Given the description of an element on the screen output the (x, y) to click on. 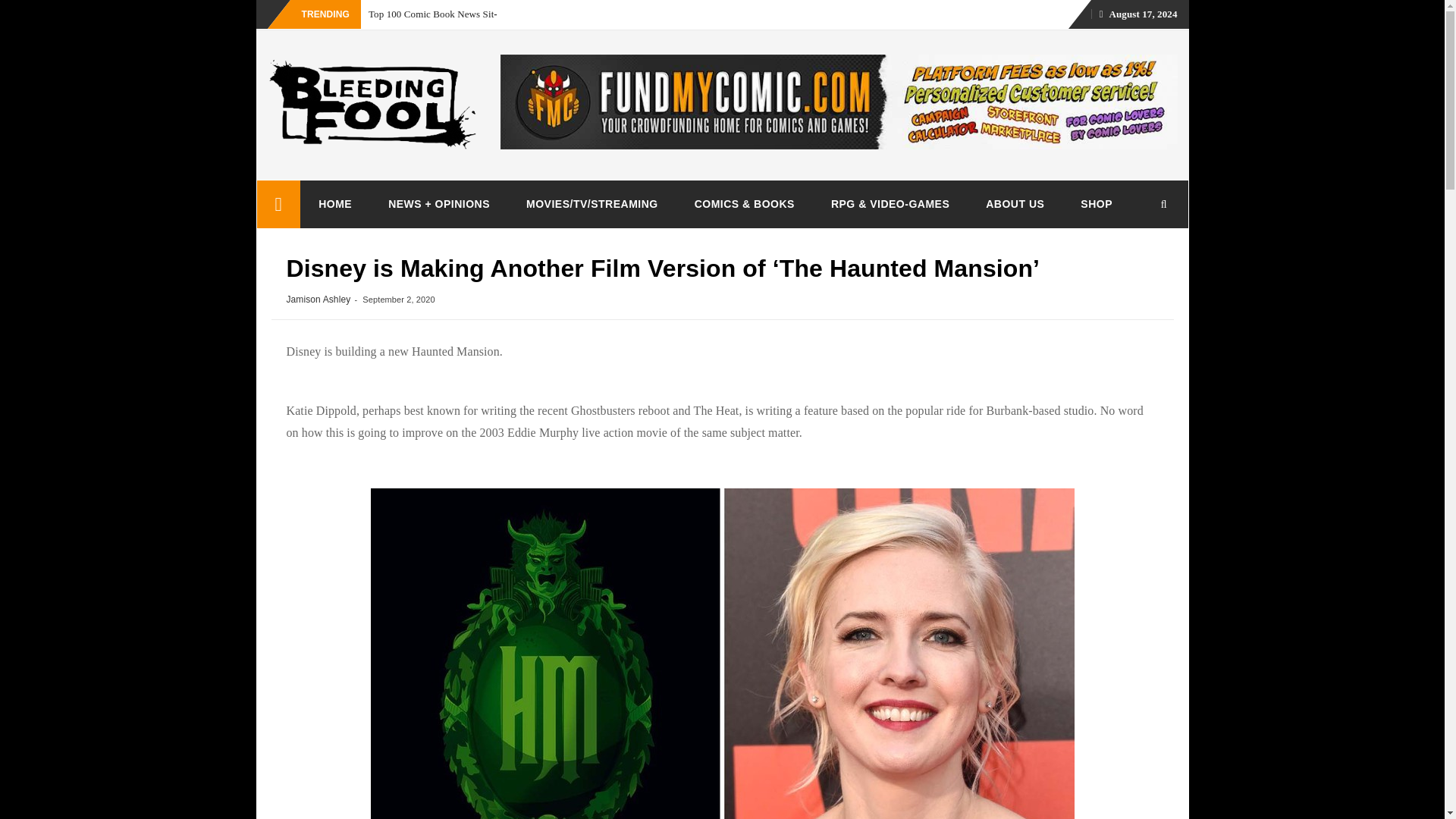
SHOP (1096, 203)
HOME (334, 203)
Top 100 Comic Book News Sit (430, 13)
ABOUT US (1015, 203)
Jamison Ashley (318, 299)
Bleeding Fool (277, 204)
